Given the description of an element on the screen output the (x, y) to click on. 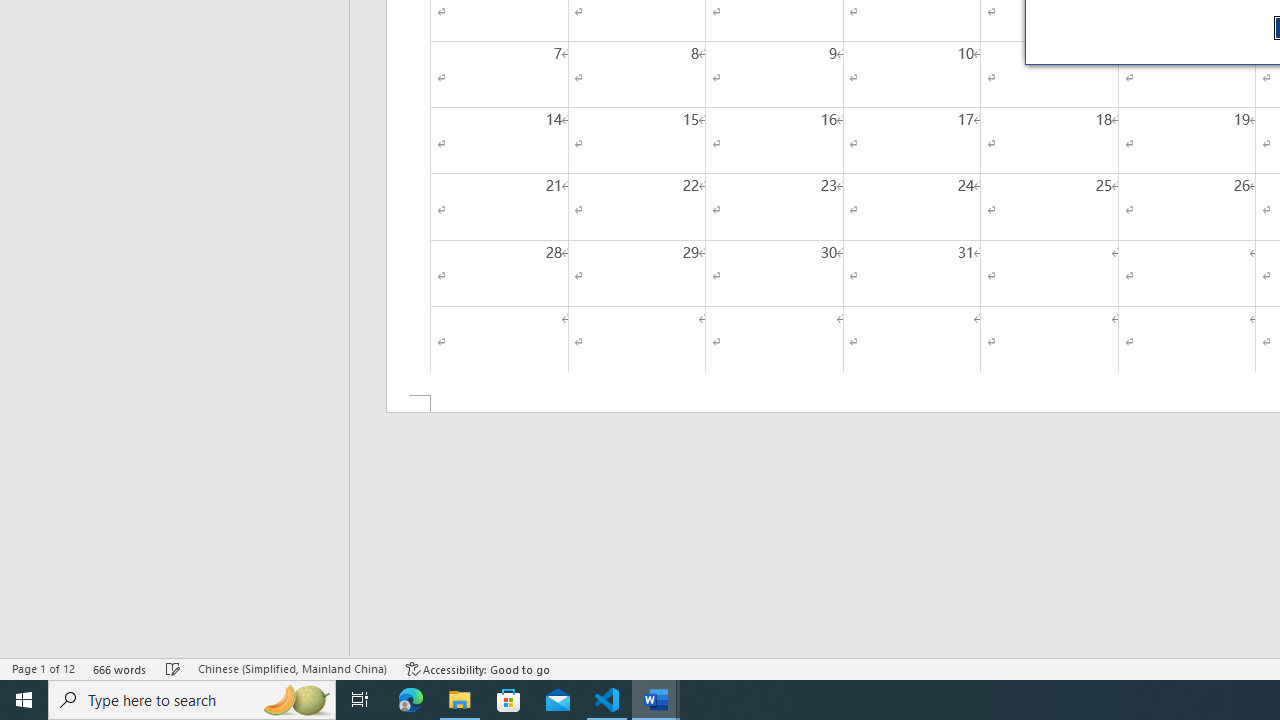
Spelling and Grammar Check Checking (173, 668)
